Given the description of an element on the screen output the (x, y) to click on. 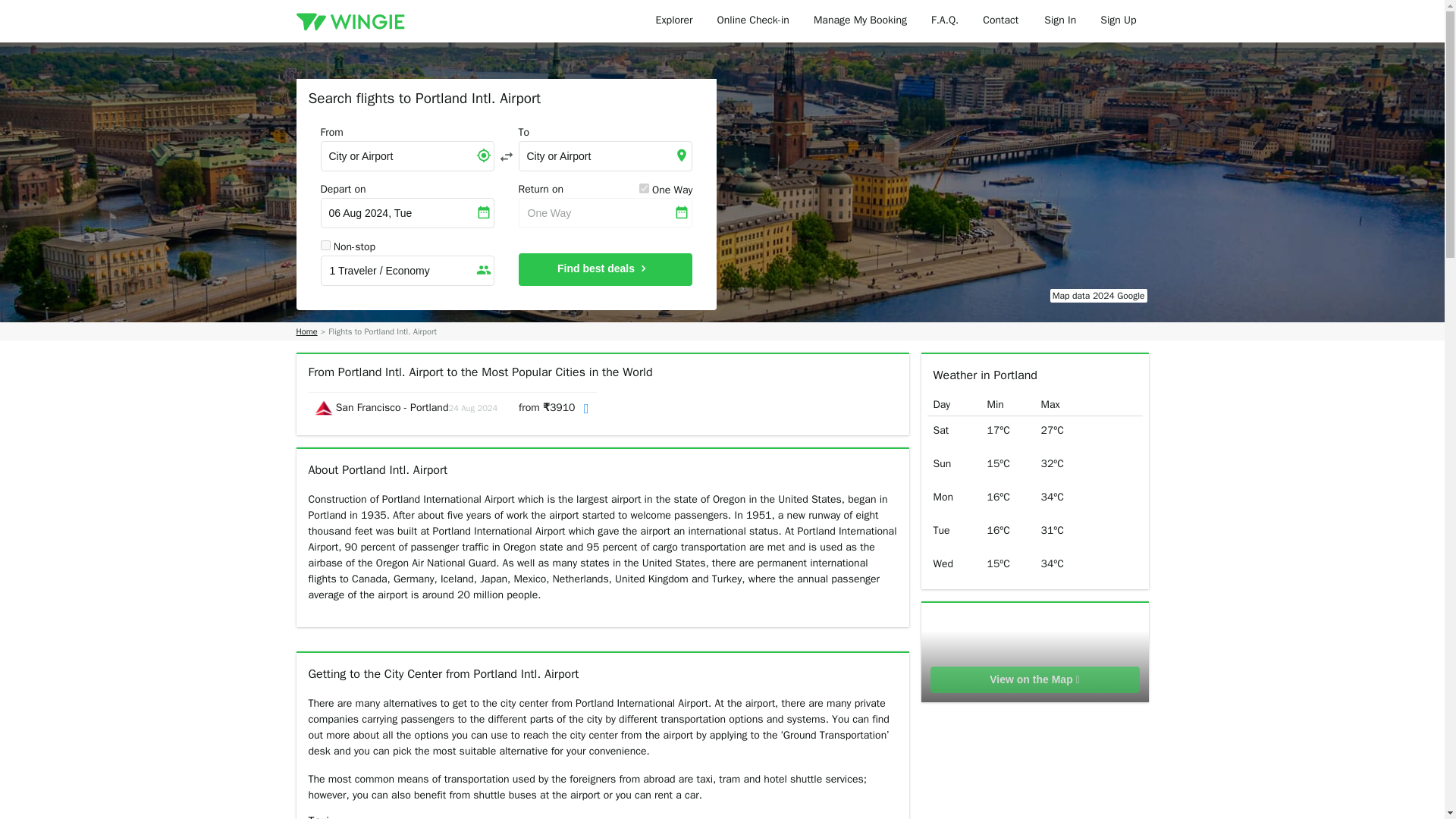
Explorer (673, 21)
Home (306, 331)
F.A.Q. (944, 21)
06 Aug 2024, Tue (406, 213)
View on the Map (1034, 679)
Sign In (1059, 21)
Find best deals (605, 269)
Online Check-in (753, 21)
false (325, 245)
Manage My Booking (860, 21)
Contact (1000, 21)
One Way (605, 213)
Sign Up (1117, 21)
Home (306, 331)
on (644, 188)
